Given the description of an element on the screen output the (x, y) to click on. 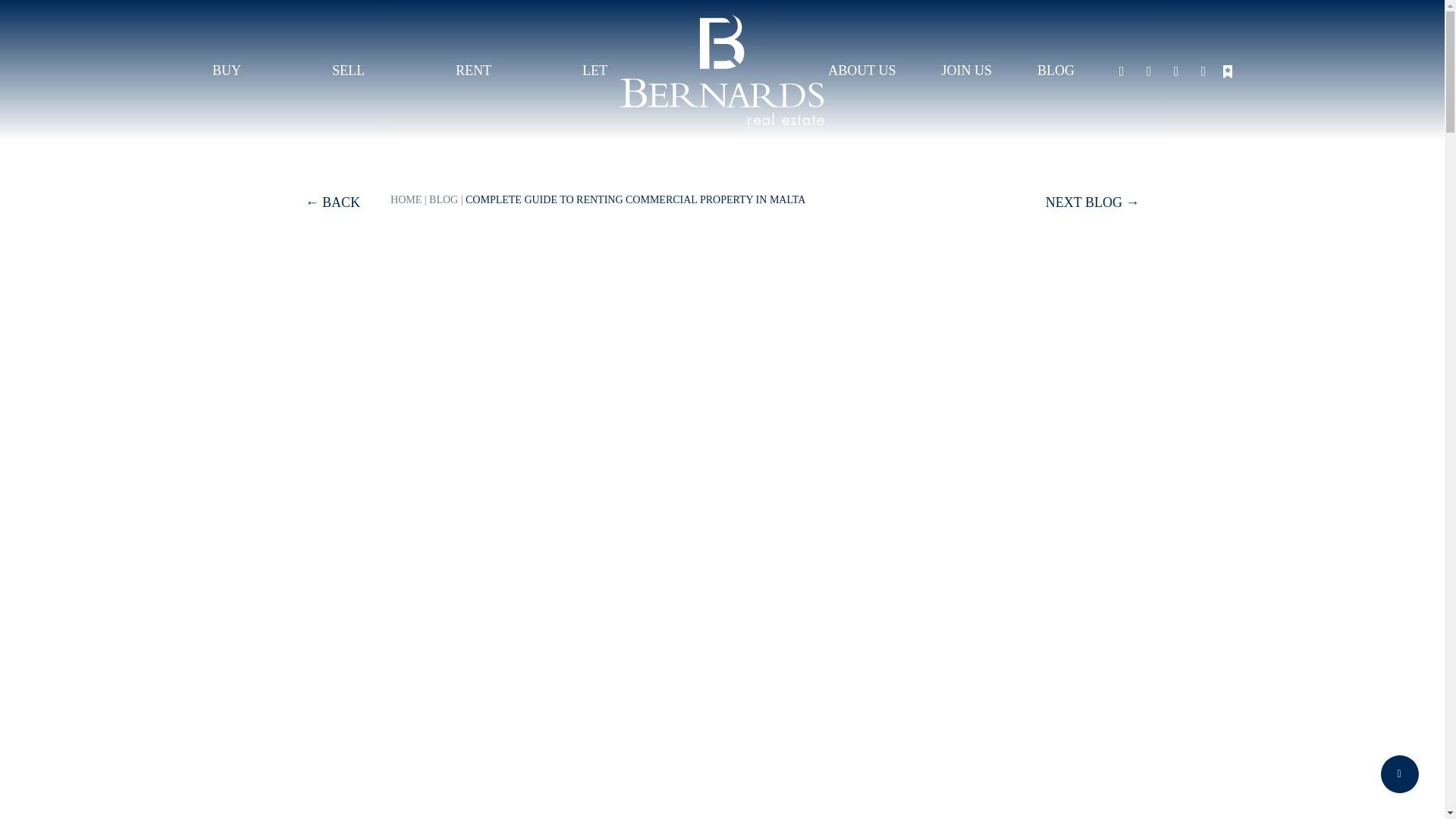
JOIN US (966, 70)
BLOG (443, 199)
INSTAGRAM (1148, 70)
HOME (406, 199)
SELL (348, 70)
RENT (473, 70)
LINKEDIN (1203, 70)
FACEBOOK (1121, 70)
LET (594, 70)
TWITTER (1175, 70)
